Given the description of an element on the screen output the (x, y) to click on. 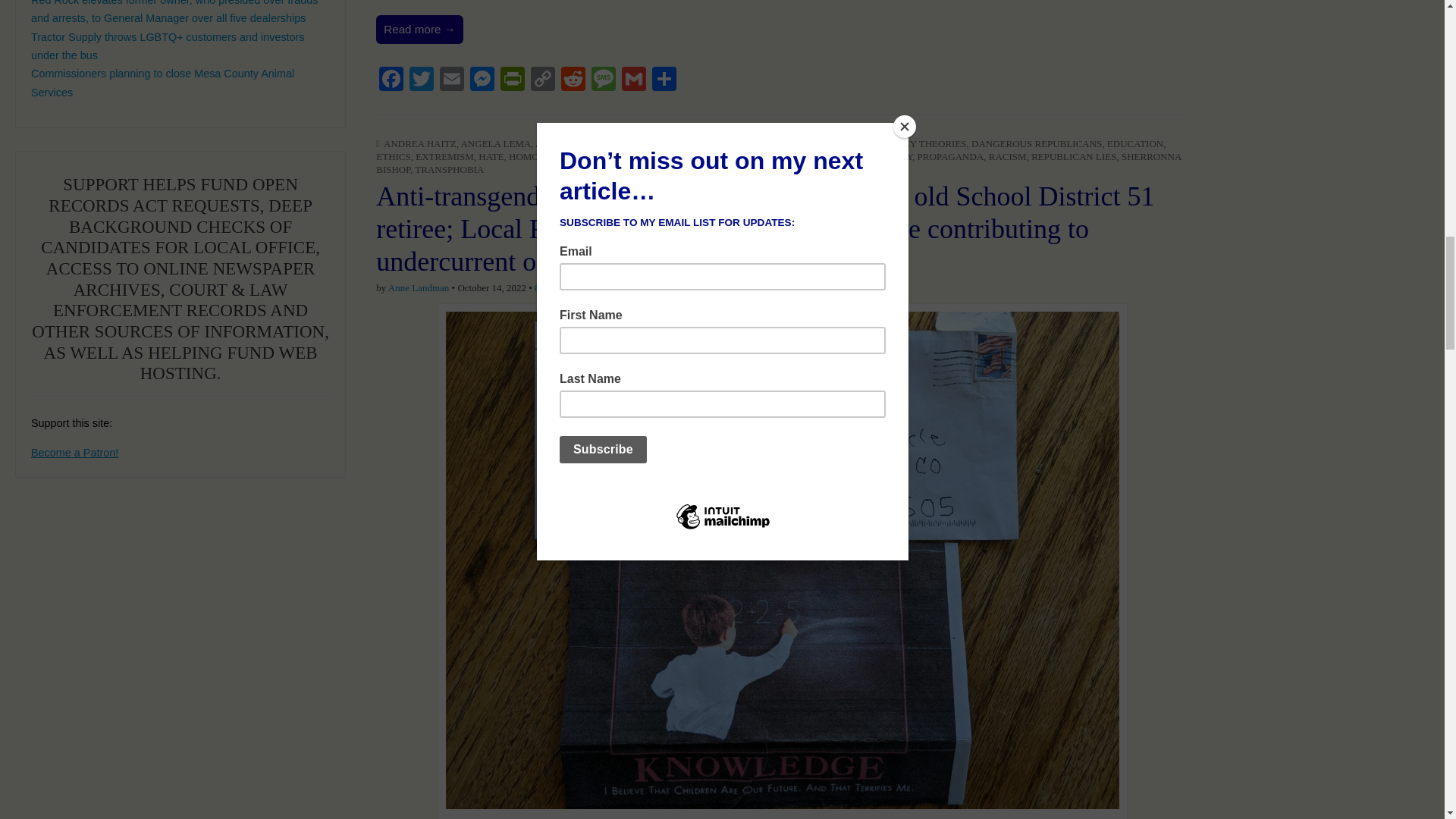
Facebook (390, 80)
Twitter (421, 80)
